Given the description of an element on the screen output the (x, y) to click on. 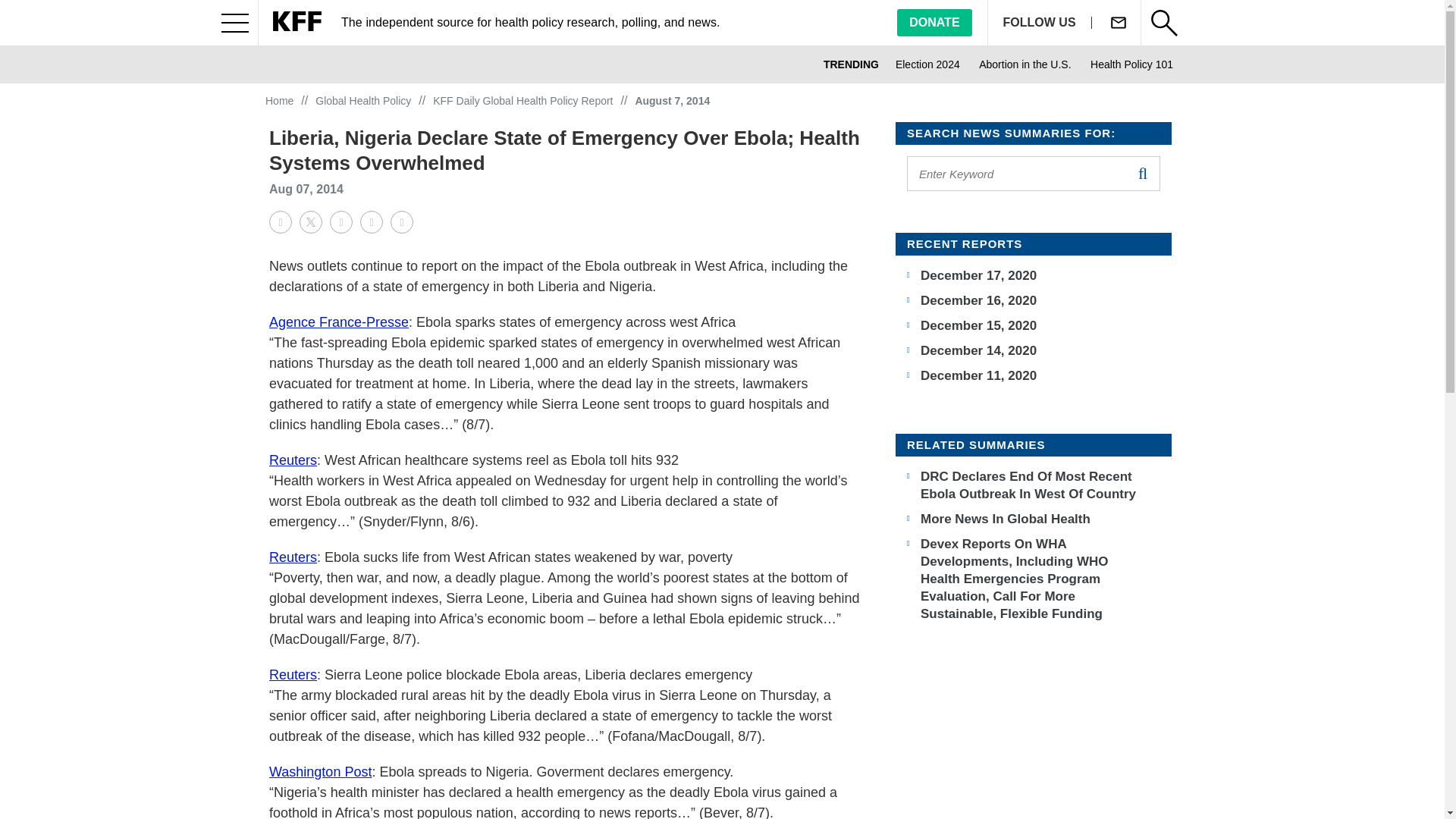
search (1141, 173)
